Given the description of an element on the screen output the (x, y) to click on. 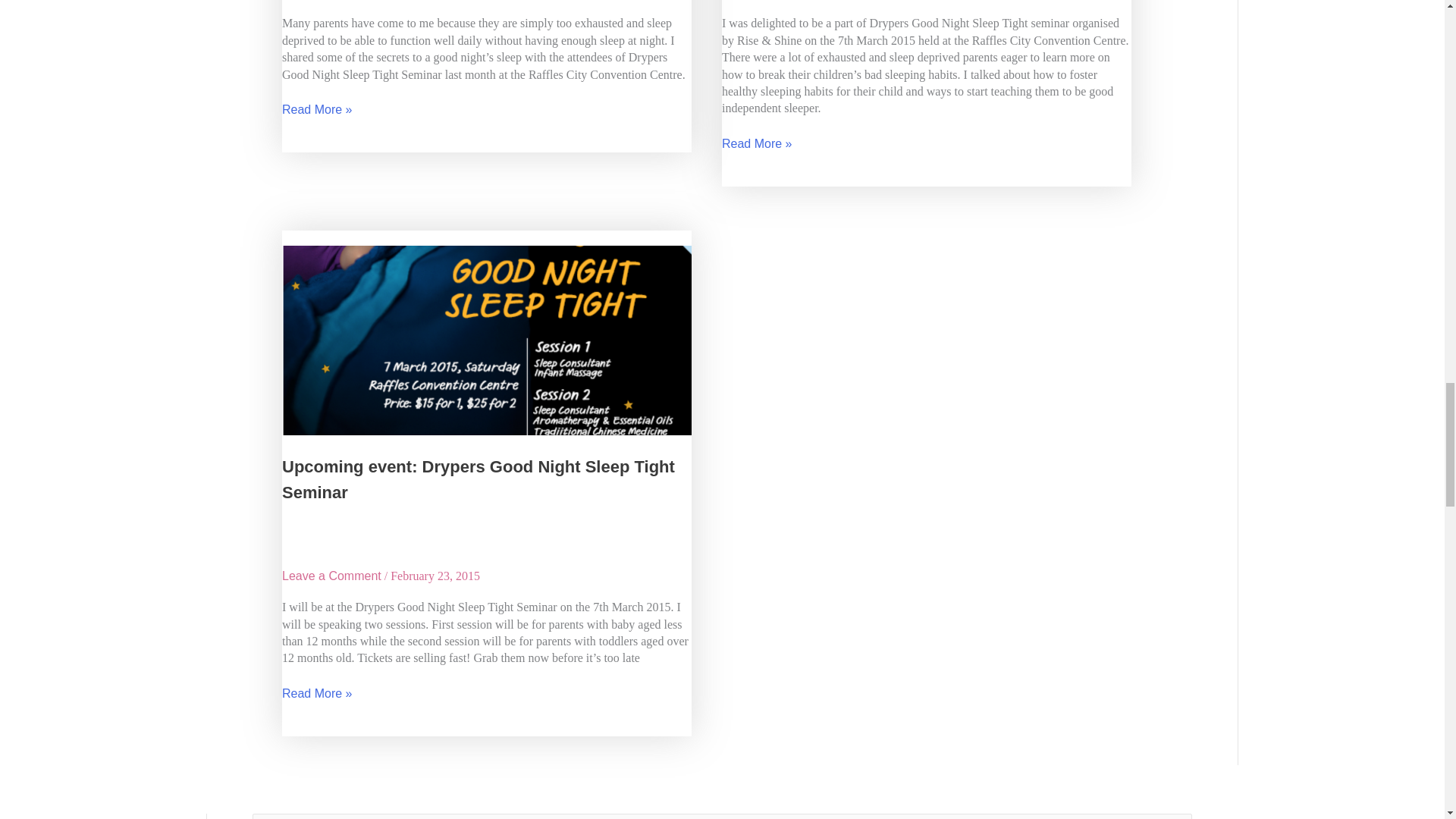
Search (1174, 816)
Search (1174, 816)
